Given the description of an element on the screen output the (x, y) to click on. 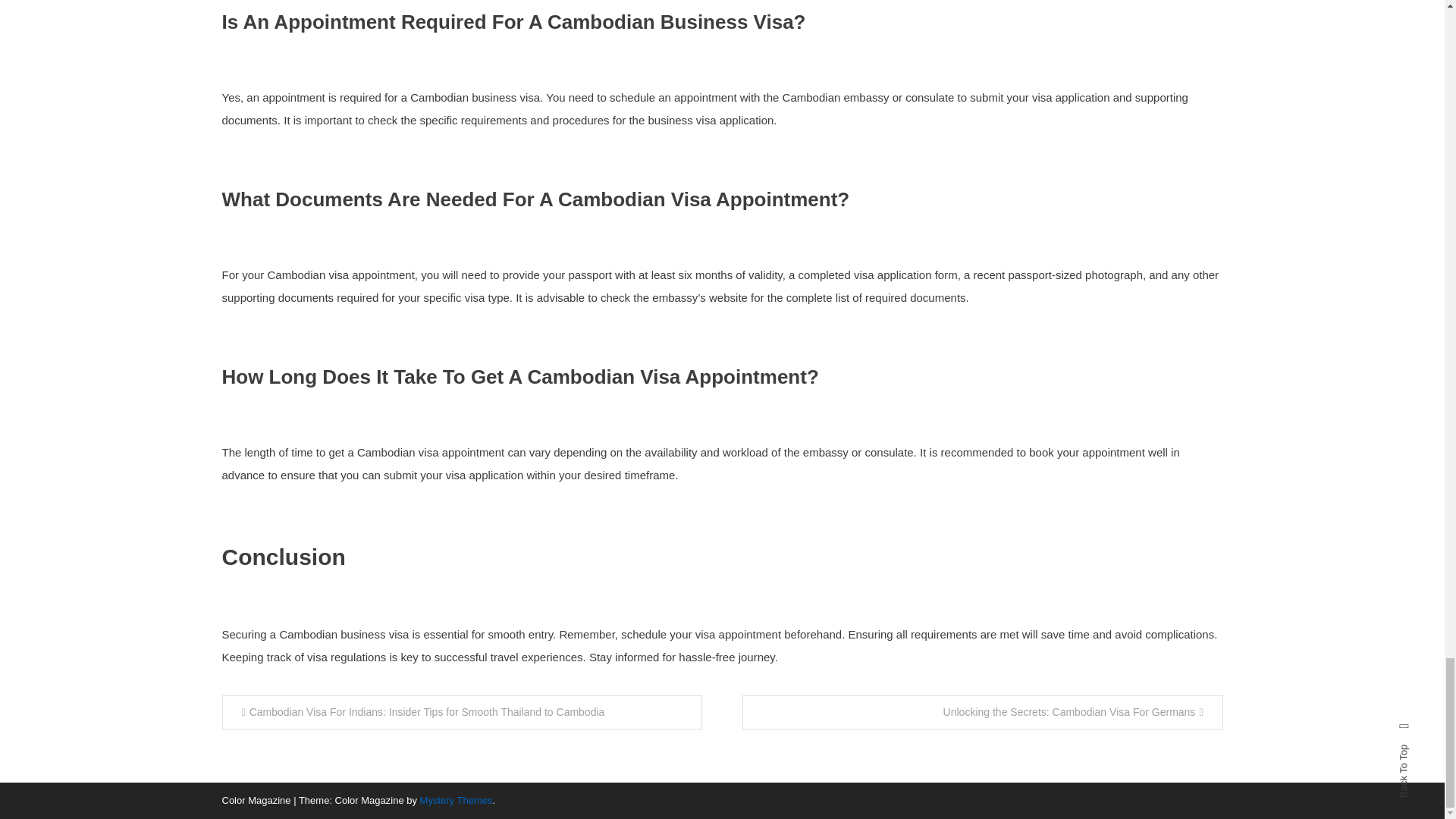
Unlocking the Secrets: Cambodian Visa For Germans (982, 712)
